Given the description of an element on the screen output the (x, y) to click on. 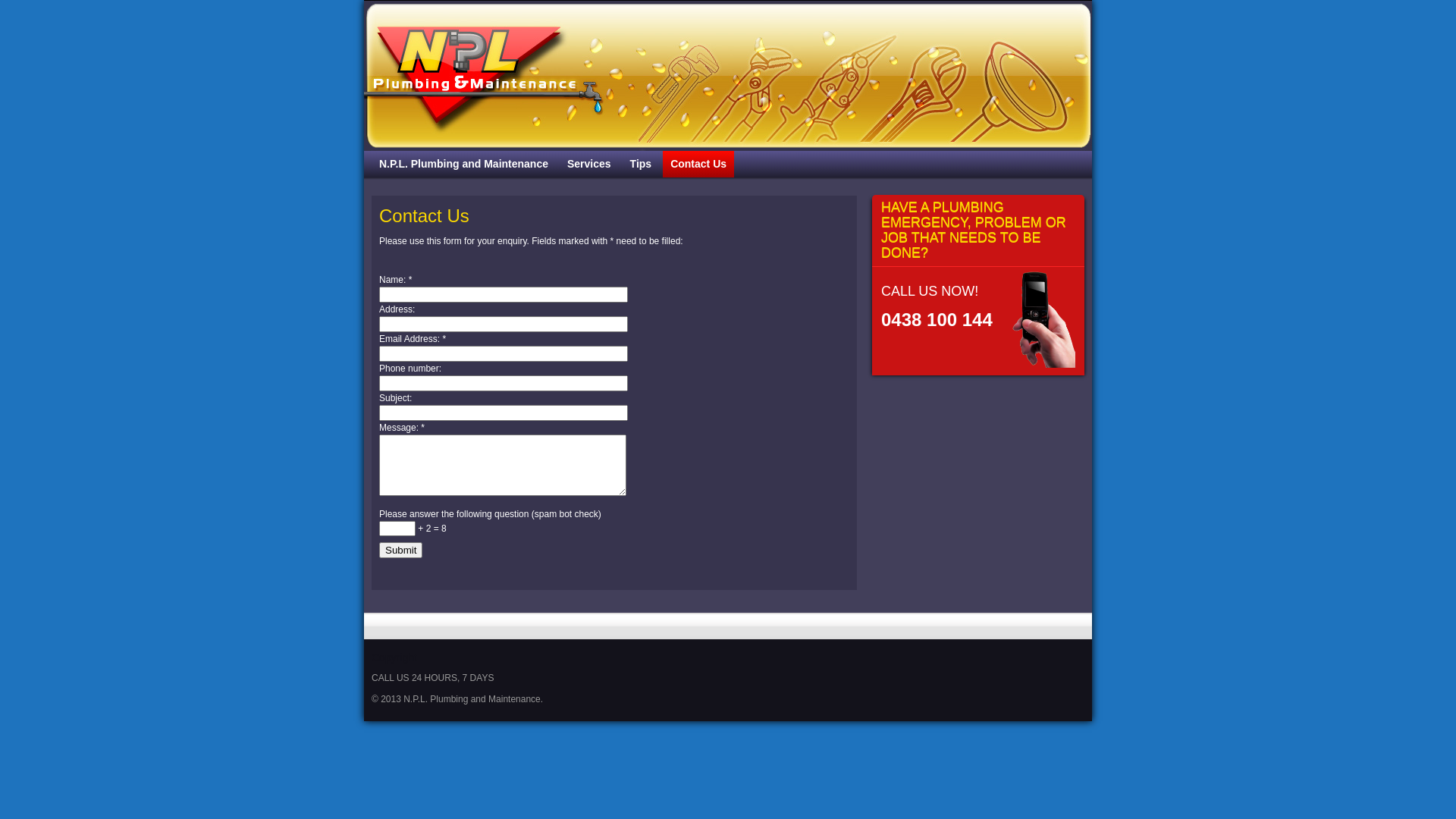
N.P.L. Plumbing and Maintenance Element type: text (463, 163)
Contact Us Element type: text (698, 163)
Go back to the front page Element type: hover (728, 75)
Services Element type: text (588, 163)
Submit Element type: text (400, 550)
Tips Element type: text (640, 163)
